Given the description of an element on the screen output the (x, y) to click on. 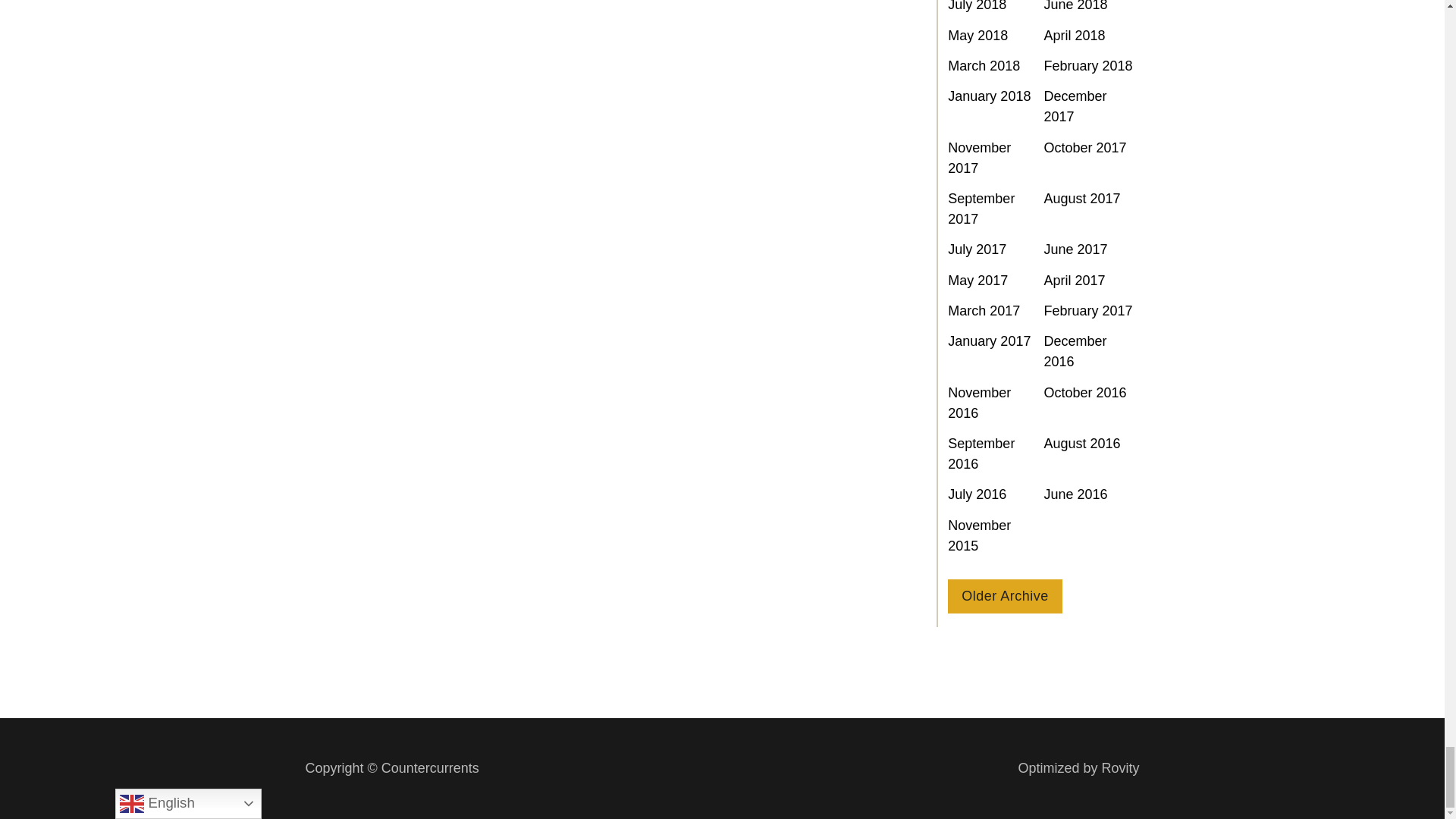
Rovity (1077, 768)
